Given the description of an element on the screen output the (x, y) to click on. 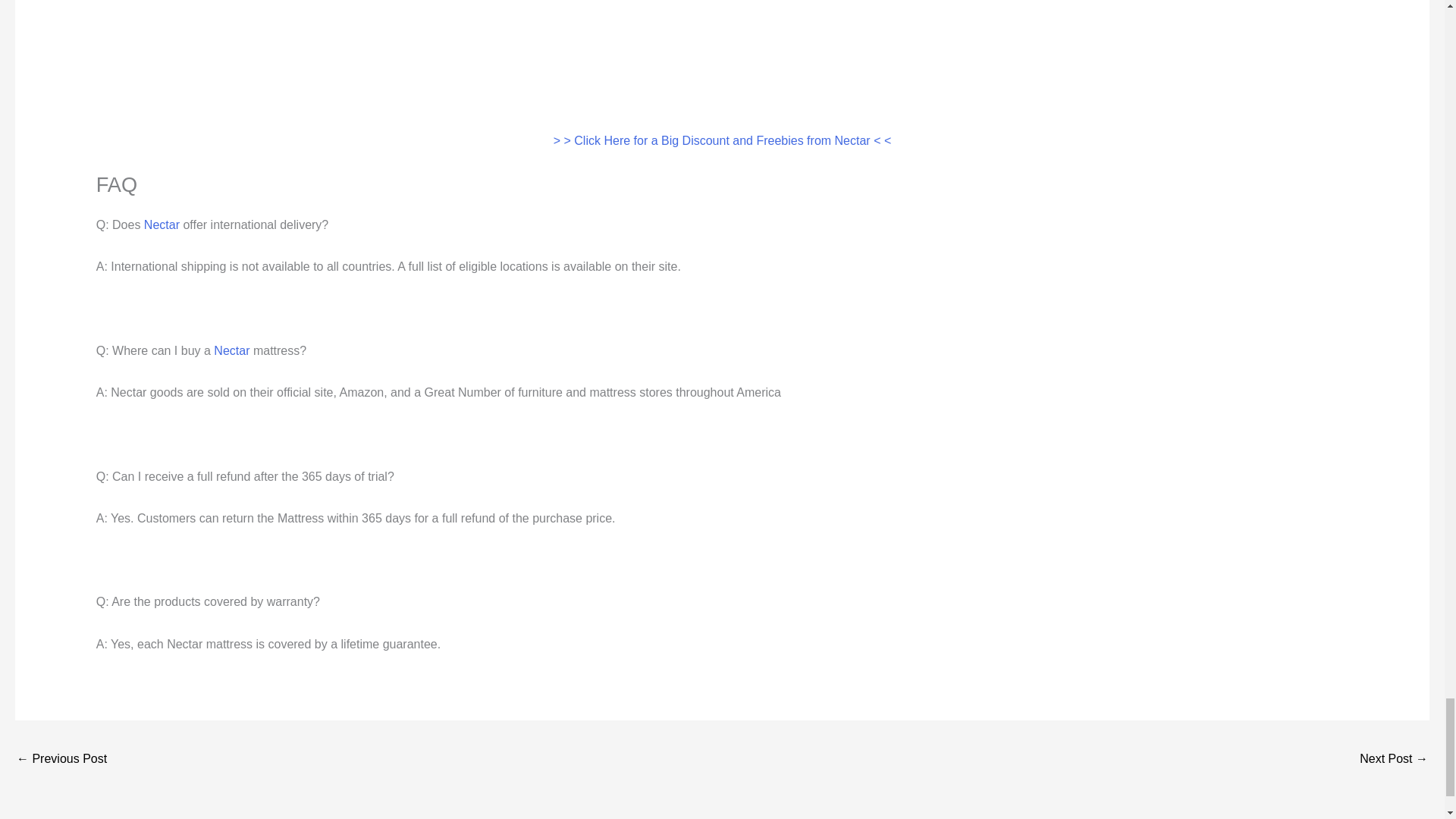
Nectar (231, 350)
Sleep Number 360 Smart Bed Vs Nectar (61, 759)
Nectar (161, 224)
Nectar Bed Showroom (1393, 759)
